Given the description of an element on the screen output the (x, y) to click on. 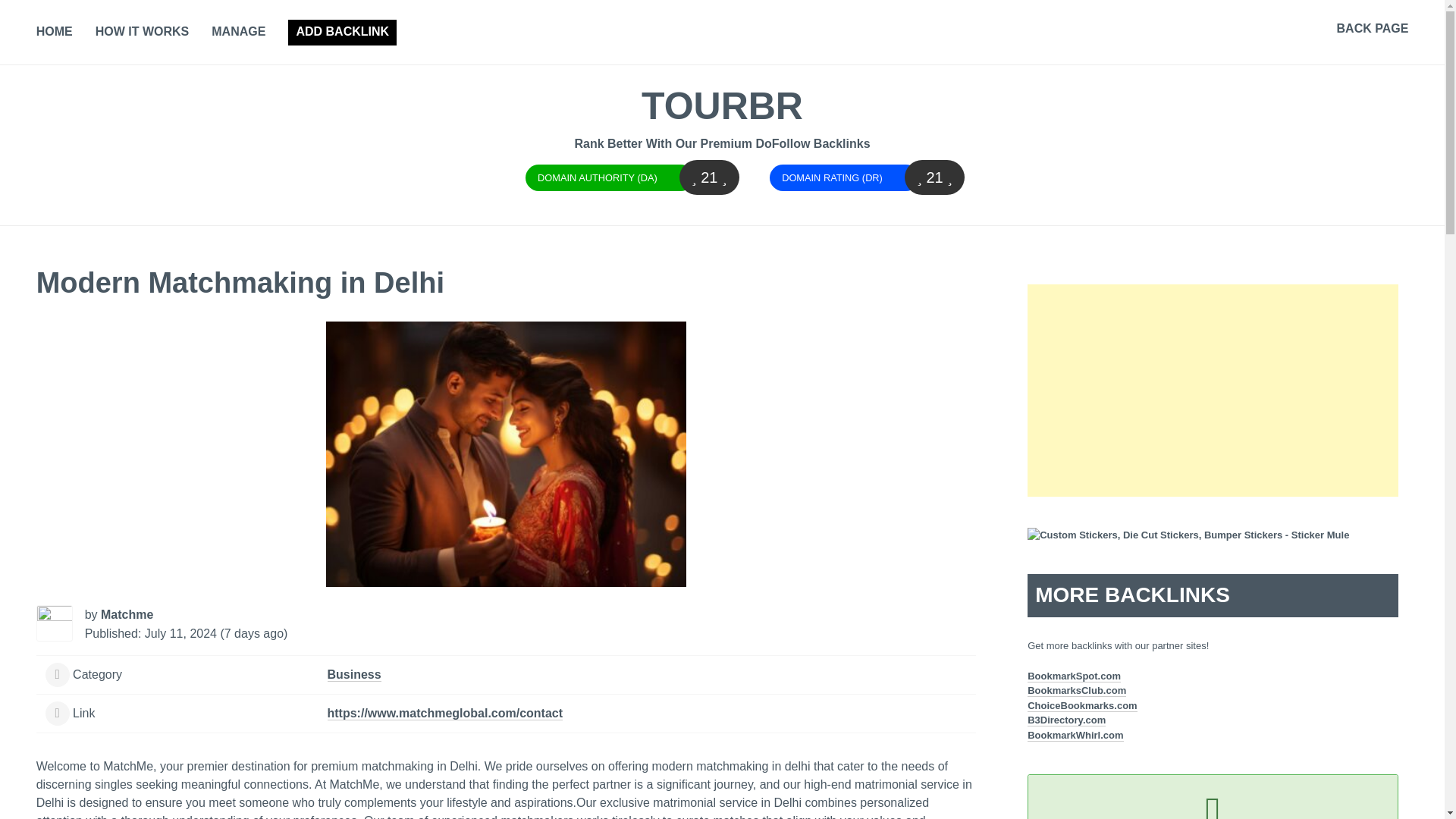
BookmarkWhirl.com (1074, 735)
BookmarksClub.com (1076, 690)
MANAGE (237, 32)
HOME (54, 32)
Search (33, 15)
Advertisement (1212, 390)
Total Files (961, 333)
BACK PAGE (1372, 29)
ChoiceBookmarks.com (1082, 705)
HOW IT WORKS (142, 32)
Business (354, 674)
B3Directory.com (1066, 720)
ADD BACKLINK (342, 32)
TOURBR (722, 106)
BookmarkSpot.com (1074, 676)
